Given the description of an element on the screen output the (x, y) to click on. 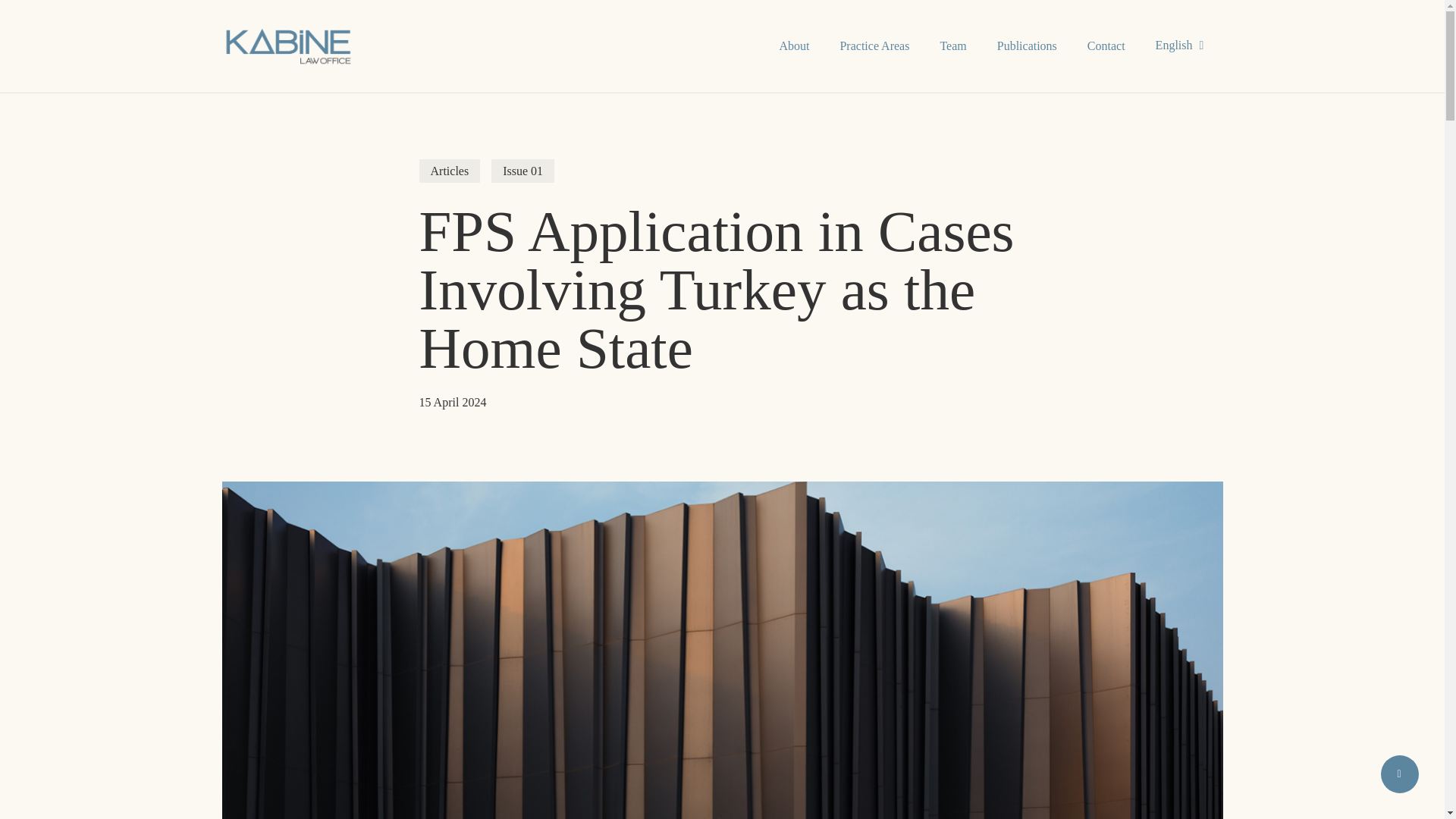
English (1181, 45)
Team (952, 46)
Publications (1026, 46)
About (793, 46)
Contact (1105, 46)
Issue 01 (523, 170)
Practice Areas (874, 46)
Articles (449, 170)
